Given the description of an element on the screen output the (x, y) to click on. 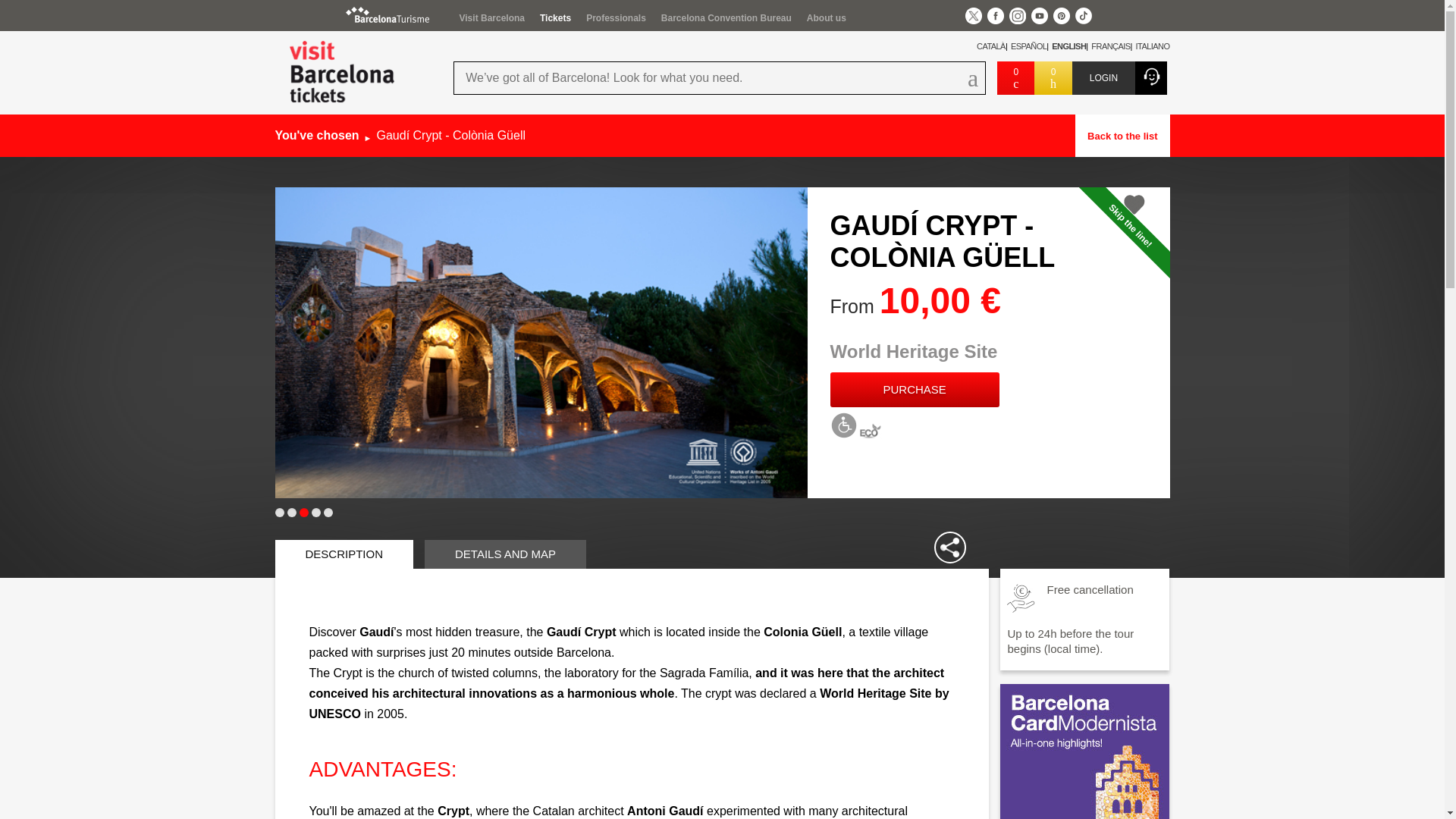
Barcelona Convention Bureau (726, 18)
ENGLISH (1066, 46)
TikTok (1083, 15)
Twitter (972, 15)
Turisme de Barcelona - Professional web site (616, 18)
Pinterest (1060, 15)
Barcelona Turisme (387, 14)
Instagram (1017, 15)
About us (825, 18)
Visit Barcelona (492, 18)
Barcelona Convention Bureau (726, 18)
Tickets (555, 18)
About us (825, 18)
0 (1015, 78)
